Given the description of an element on the screen output the (x, y) to click on. 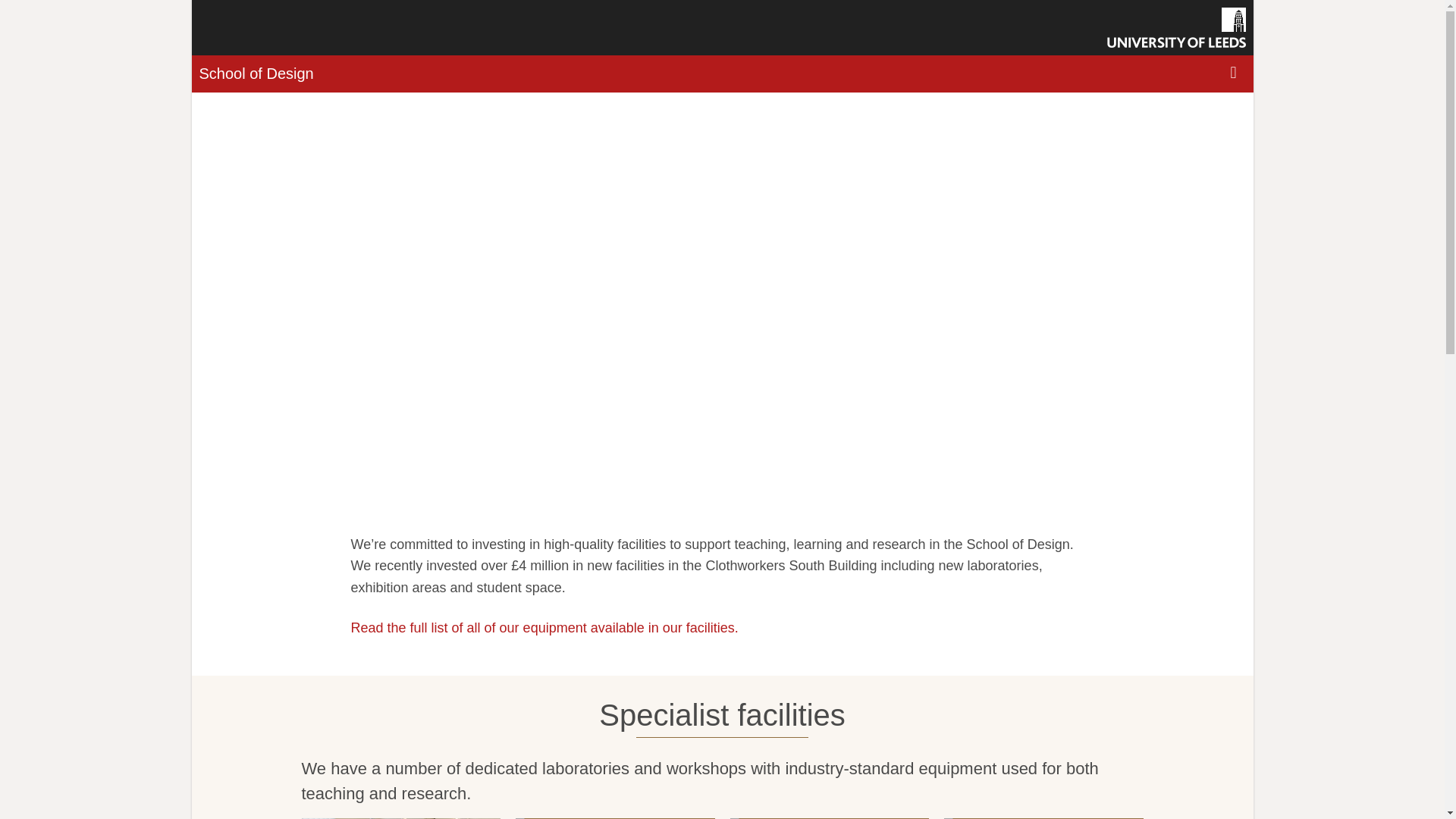
University of Leeds homepage (1176, 27)
School of Design (255, 73)
